Given the description of an element on the screen output the (x, y) to click on. 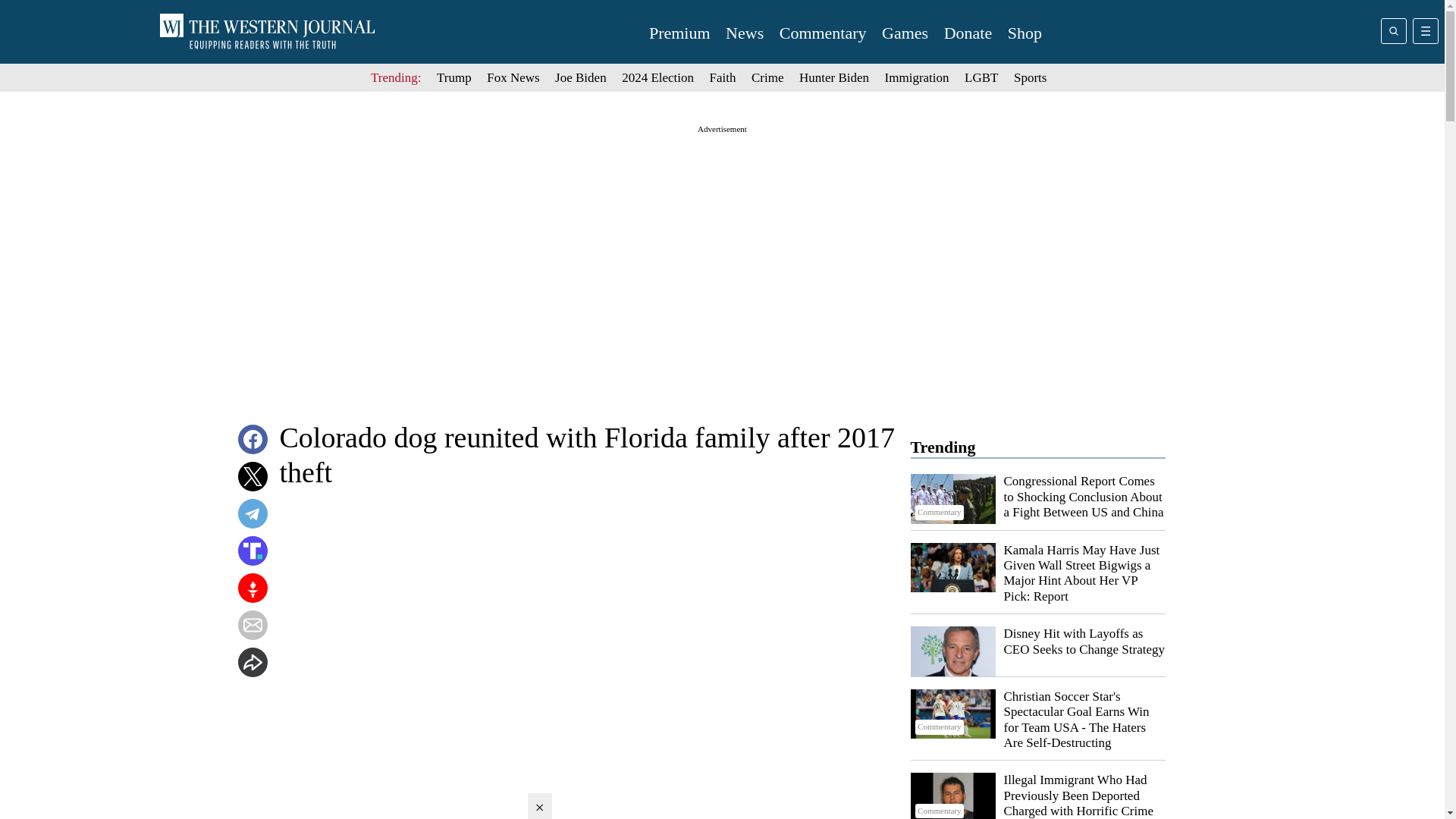
Commentary (952, 796)
Joe Biden (580, 77)
2024 Election (657, 77)
Shop (1024, 32)
Commentary (952, 499)
LGBT (980, 77)
News (743, 32)
Disney Hit with Layoffs as CEO Seeks to Change Strategy (1084, 641)
Donate (967, 32)
Games (905, 32)
Commentary (822, 32)
